Given the description of an element on the screen output the (x, y) to click on. 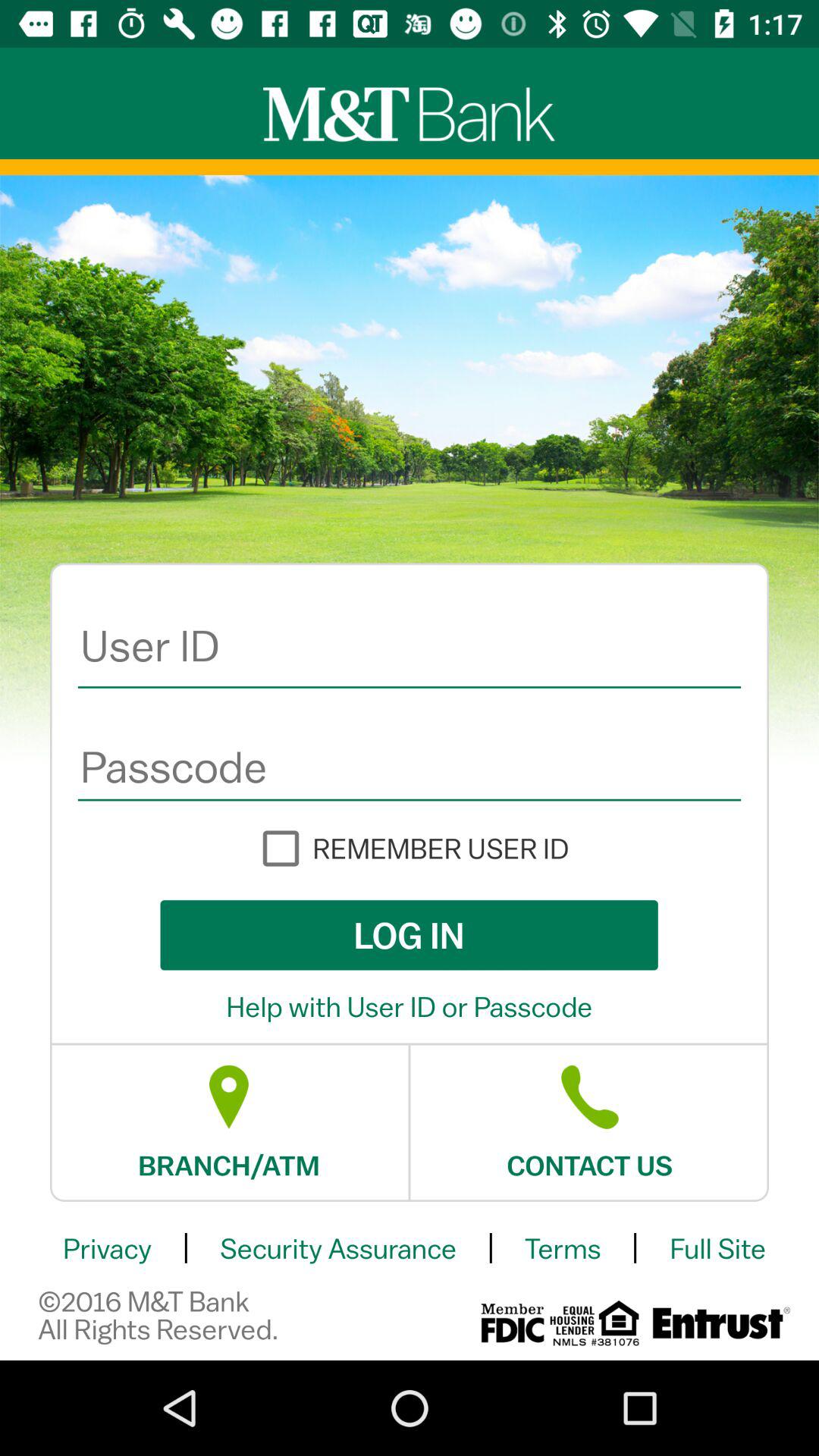
click icon below the terms (719, 1322)
